Given the description of an element on the screen output the (x, y) to click on. 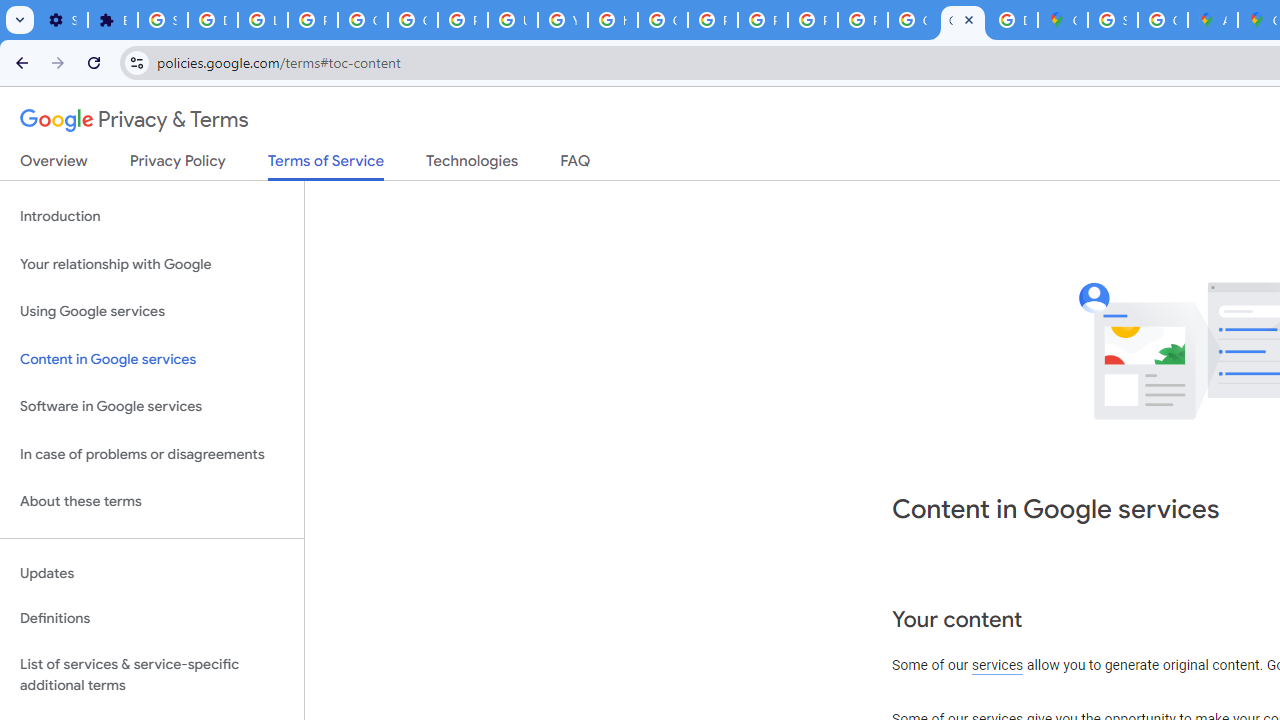
YouTube (562, 20)
Privacy Policy (177, 165)
List of services & service-specific additional terms (152, 674)
Introduction (152, 216)
https://scholar.google.com/ (612, 20)
Settings - On startup (62, 20)
Software in Google services (152, 407)
Google Maps (1062, 20)
Updates (152, 573)
